Given the description of an element on the screen output the (x, y) to click on. 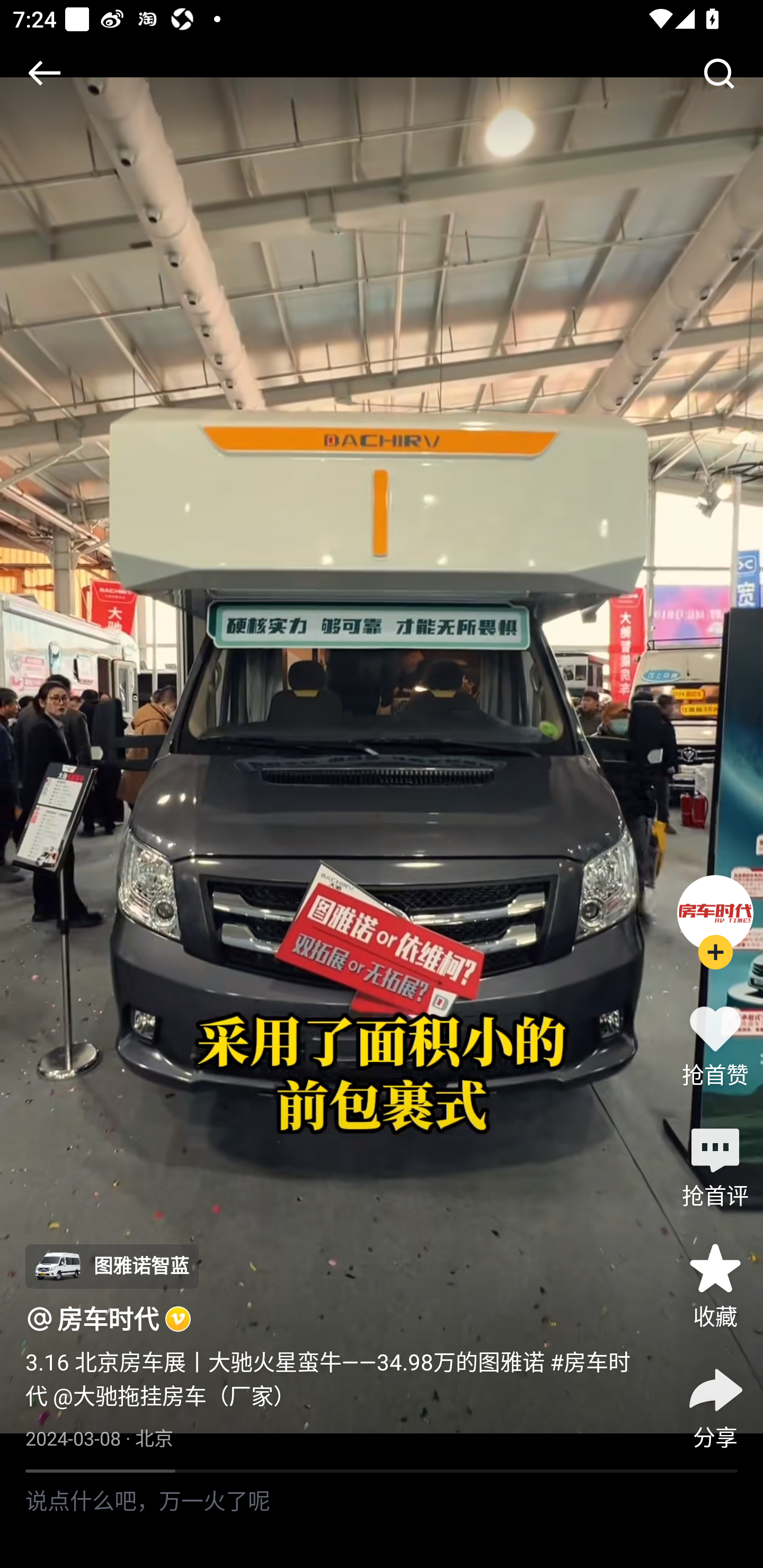
 (44, 72)
 (718, 72)
抢首评 (715, 1164)
收藏 (715, 1284)
图雅诺智蓝 (111, 1266)
房车时代 (107, 1318)
3.16 北京房车展丨大驰火星蛮牛——34.98万的图雅诺 #房车时代 @大驰拖挂房车（厂家） (336, 1377)
分享 (715, 1405)
说点什么吧，万一火了呢 (381, 1520)
